Given the description of an element on the screen output the (x, y) to click on. 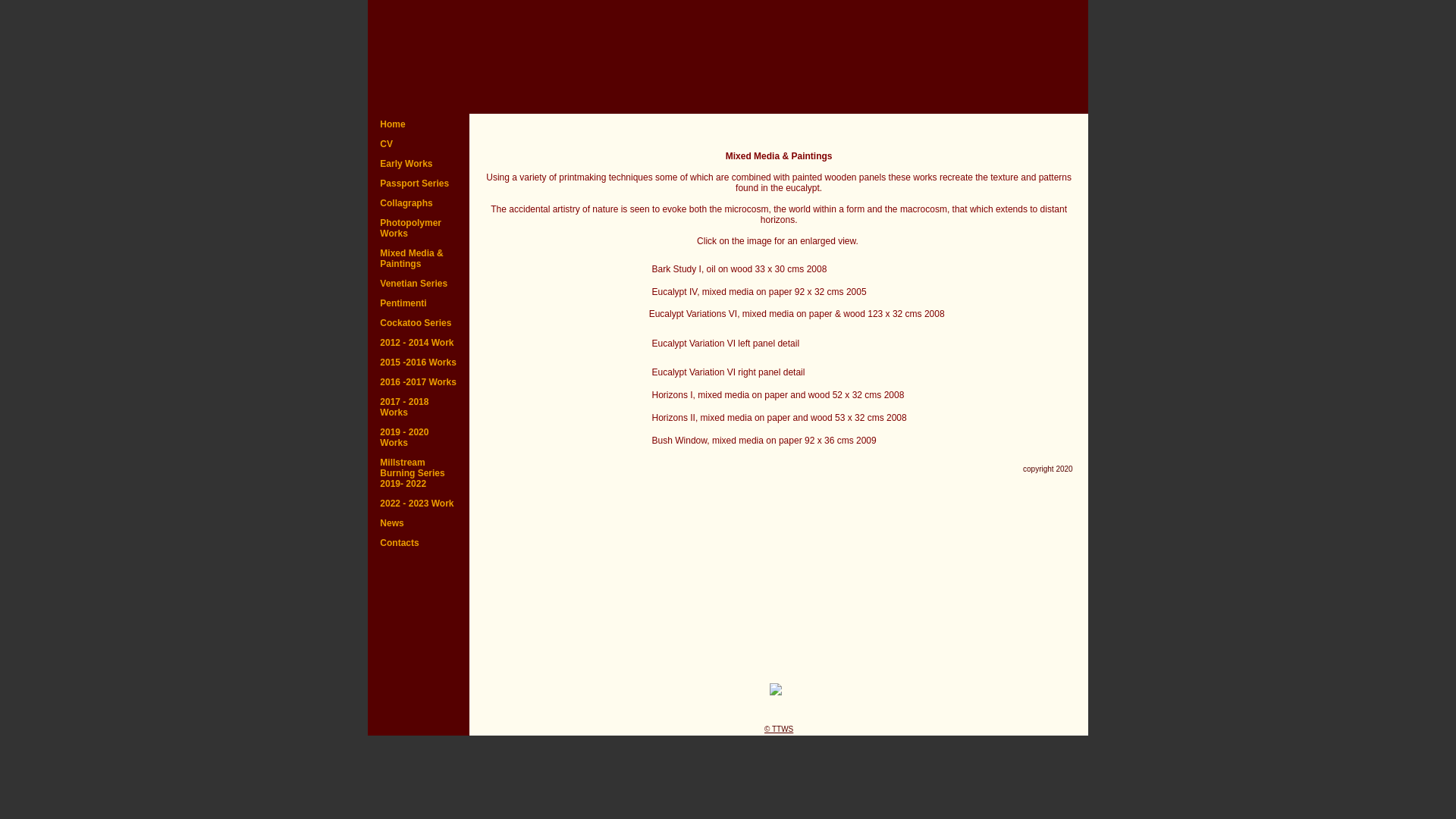
Early Works Element type: text (418, 163)
Pentimenti Element type: text (418, 303)
Home Element type: text (418, 124)
Venetian Series Element type: text (418, 283)
Passport Series Element type: text (418, 183)
2019 - 2020 Works Element type: text (418, 437)
2012 - 2014 Work Element type: text (418, 342)
2017 - 2018 Works Element type: text (418, 406)
Millstream Burning Series 2019- 2022 Element type: text (418, 472)
Home Element type: text (418, 124)
2012 - 2014 Work Element type: text (418, 342)
2015 -2016 Works Element type: text (418, 362)
Cockatoo Series Element type: text (418, 322)
Millstream Burning Series 2019- 2022 Element type: text (418, 473)
2016 -2017 Works Element type: text (418, 381)
2019 - 2020 Works Element type: text (418, 437)
Mixed Media & Paintings Element type: text (418, 258)
Early Works Element type: text (418, 163)
2017 - 2018 Works Element type: text (418, 406)
2015 -2016 Works Element type: text (418, 362)
Contacts Element type: text (418, 542)
Collagraphs Element type: text (418, 203)
Passport Series Element type: text (418, 183)
Pentimenti Element type: text (418, 303)
2022 - 2023 Work Element type: text (418, 503)
Photopolymer Works Element type: text (418, 227)
News Element type: text (418, 523)
CV Element type: text (418, 143)
Cockatoo Series Element type: text (418, 322)
Venetian Series Element type: text (418, 283)
Photopolymer Works Element type: text (418, 227)
CV Element type: text (418, 143)
Collagraphs Element type: text (418, 202)
News Element type: text (418, 522)
Mixed Media & Paintings Element type: text (418, 258)
2016 -2017 Works Element type: text (418, 382)
2022 - 2023 Work Element type: text (418, 503)
Contacts Element type: text (418, 542)
